Given the description of an element on the screen output the (x, y) to click on. 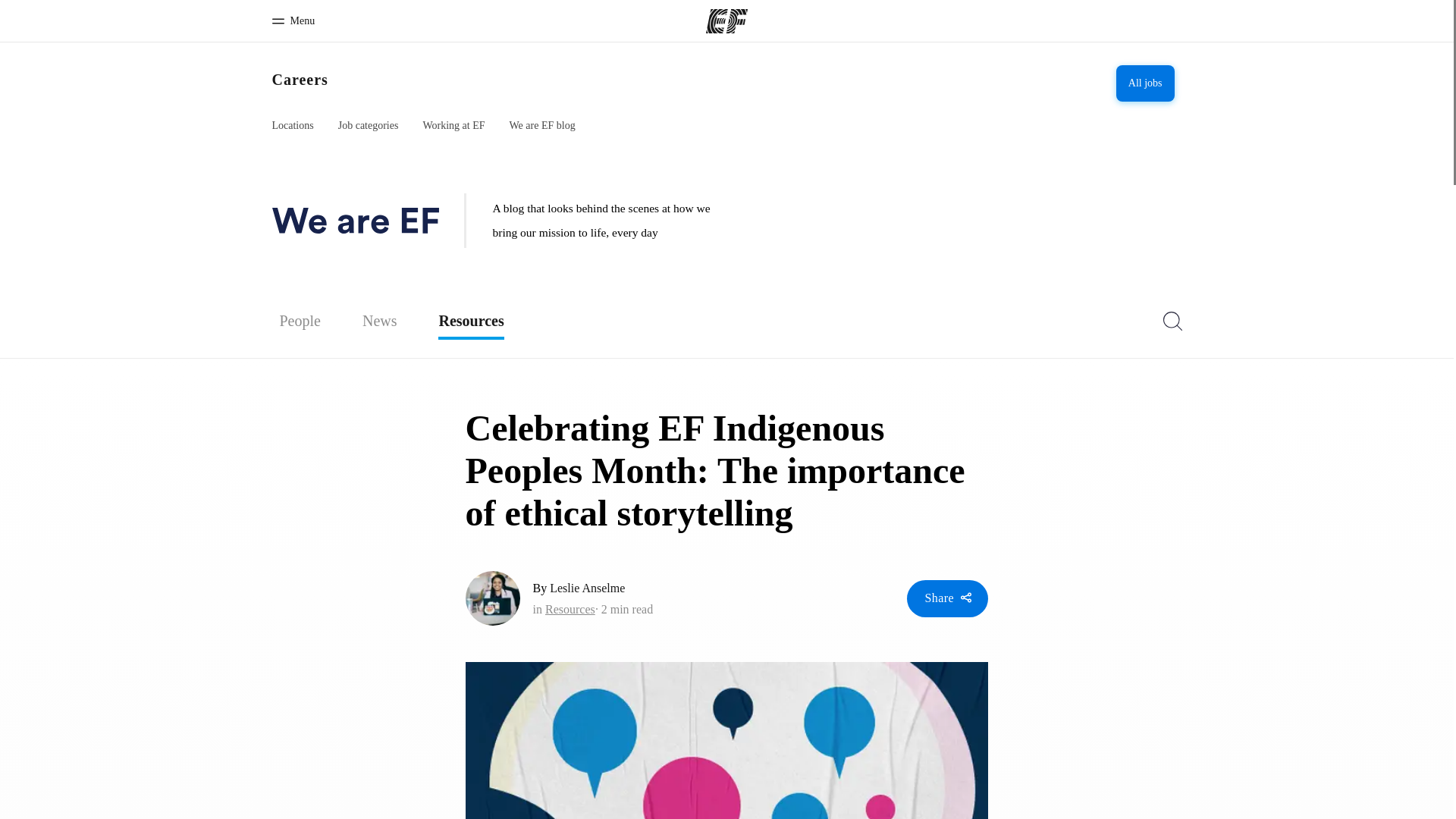
Working at EF (453, 125)
Careers (298, 78)
Menu (292, 20)
Locations (291, 125)
Resources (470, 316)
Share (947, 597)
All jobs (1145, 83)
We are EF blog (542, 125)
Job categories (367, 125)
Leslie Anselme (587, 587)
